Given the description of an element on the screen output the (x, y) to click on. 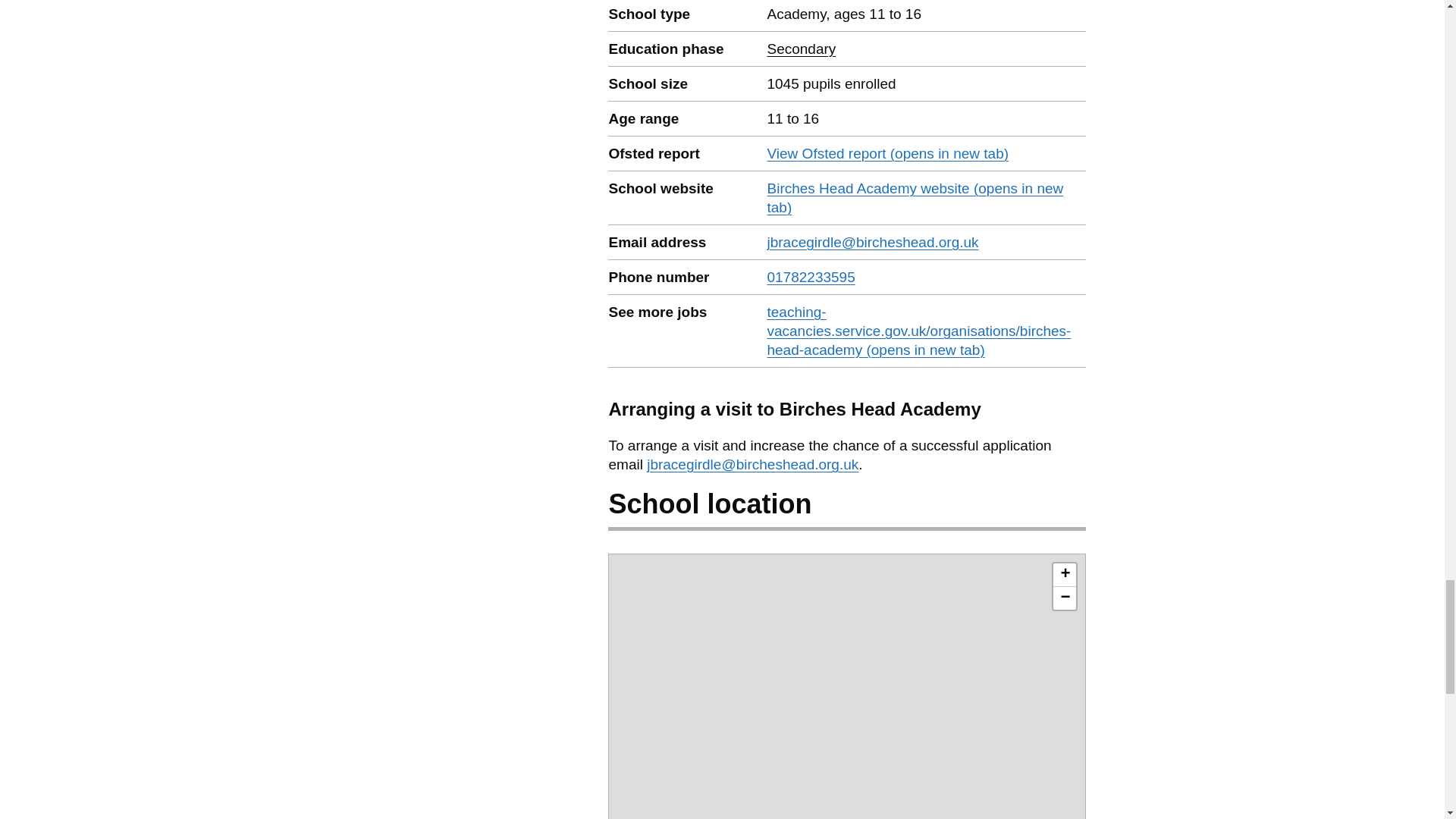
Zoom in (801, 48)
01782233595 (1063, 575)
Zoom out (810, 277)
